Given the description of an element on the screen output the (x, y) to click on. 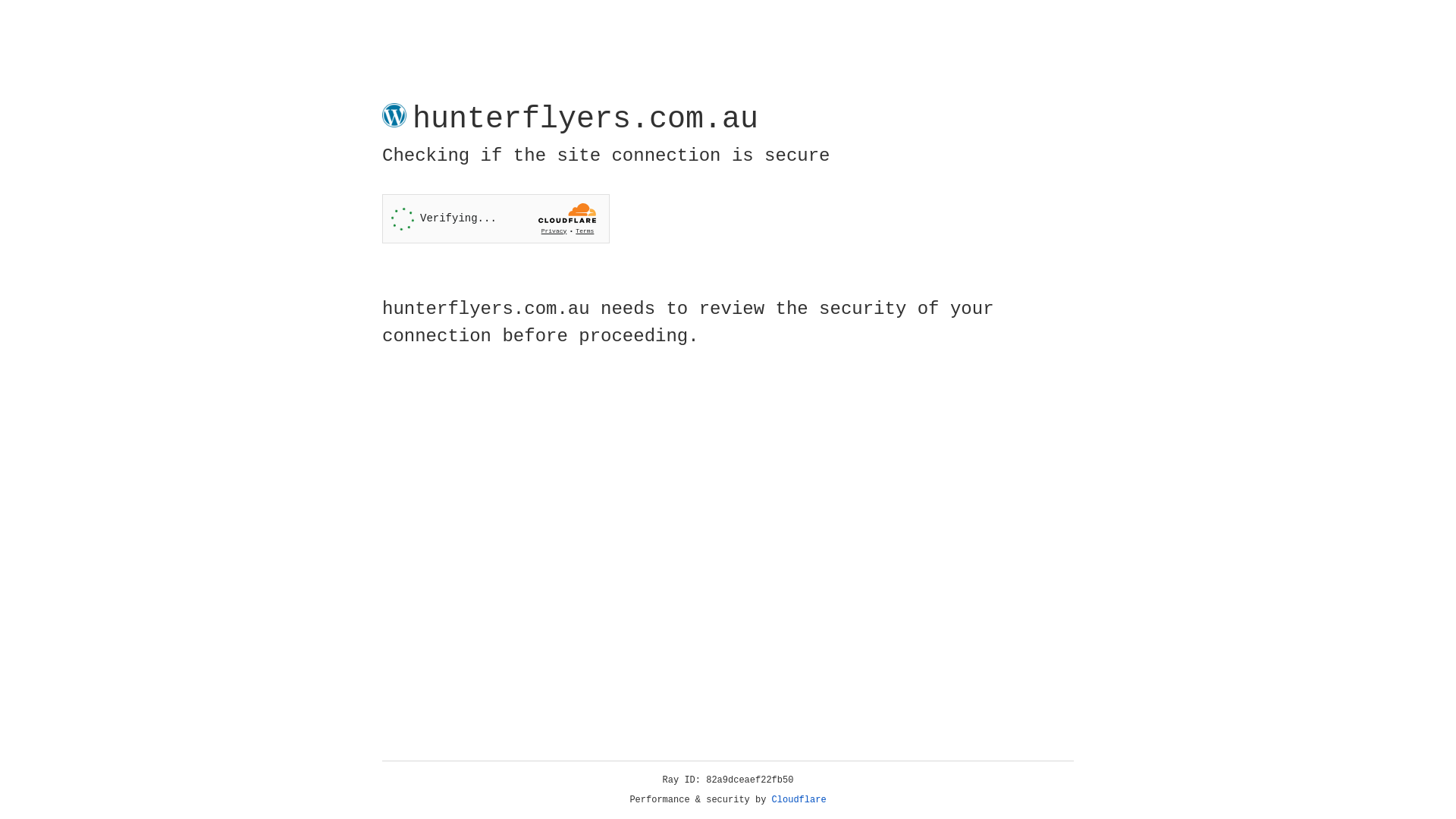
Widget containing a Cloudflare security challenge Element type: hover (495, 218)
Cloudflare Element type: text (798, 799)
